Given the description of an element on the screen output the (x, y) to click on. 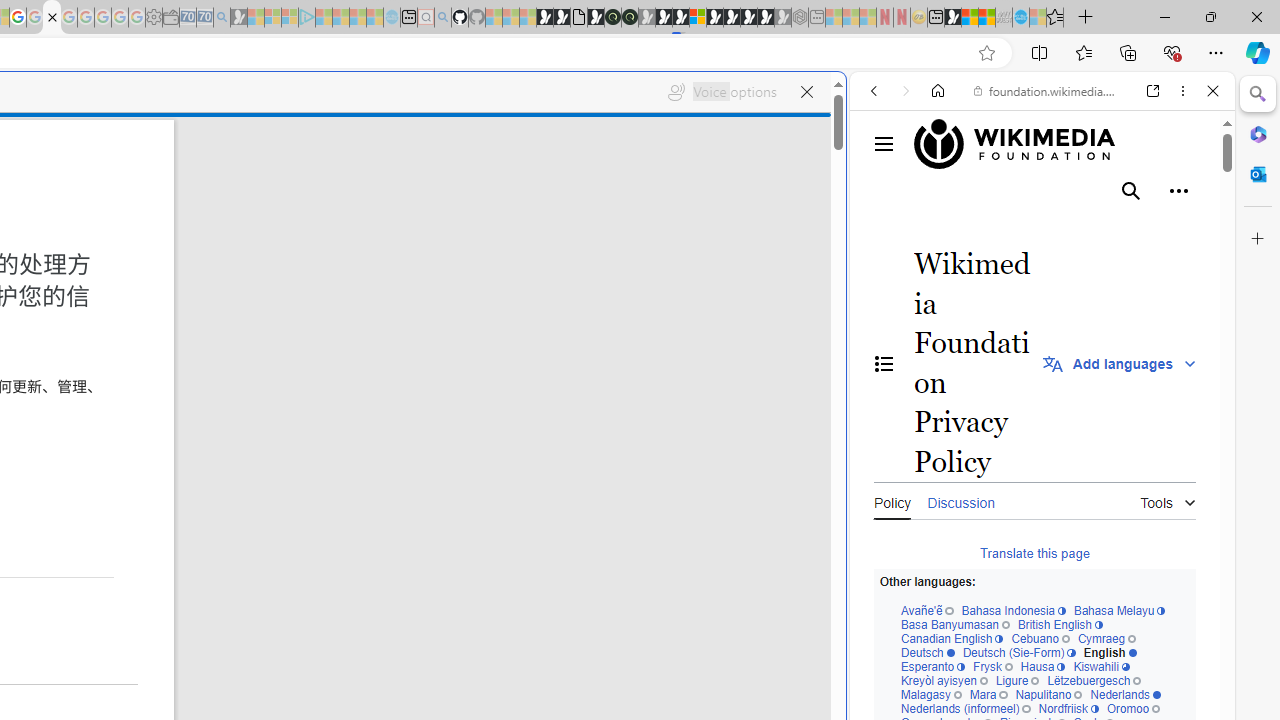
Malagasy (930, 695)
Sign in to your account (697, 17)
Services - Maintenance | Sky Blue Bikes - Sky Blue Bikes (1020, 17)
Malagasy (930, 695)
Personal tools (1178, 191)
